Given the description of an element on the screen output the (x, y) to click on. 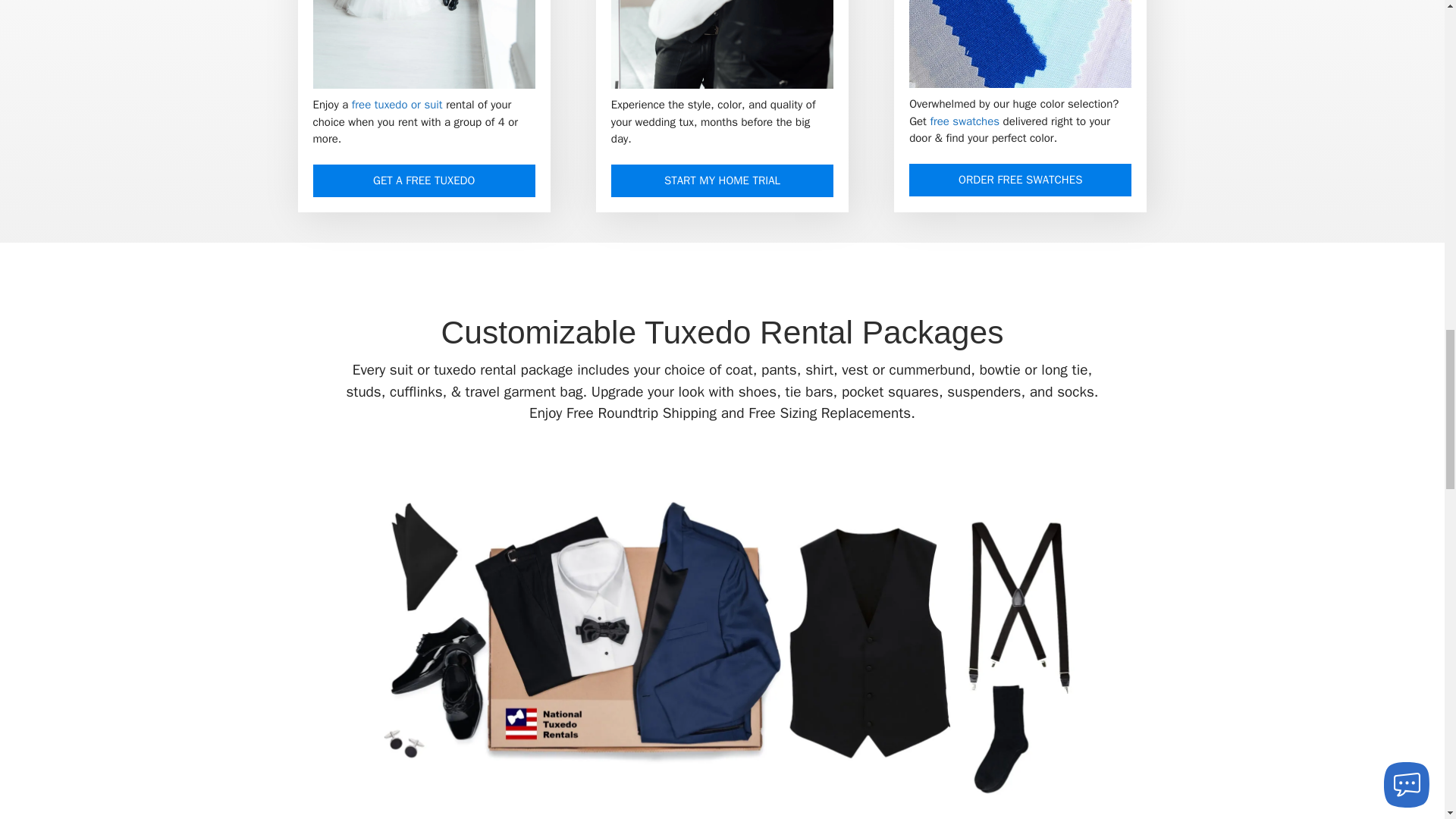
free tuxedo or suit  (398, 104)
coat (738, 370)
TheFirstMeetingOfTheGroomInABlackSuit (424, 44)
SetOfFabricSwatchSamplesTexture (1019, 43)
tryon (721, 44)
free swatches (964, 120)
